Given the description of an element on the screen output the (x, y) to click on. 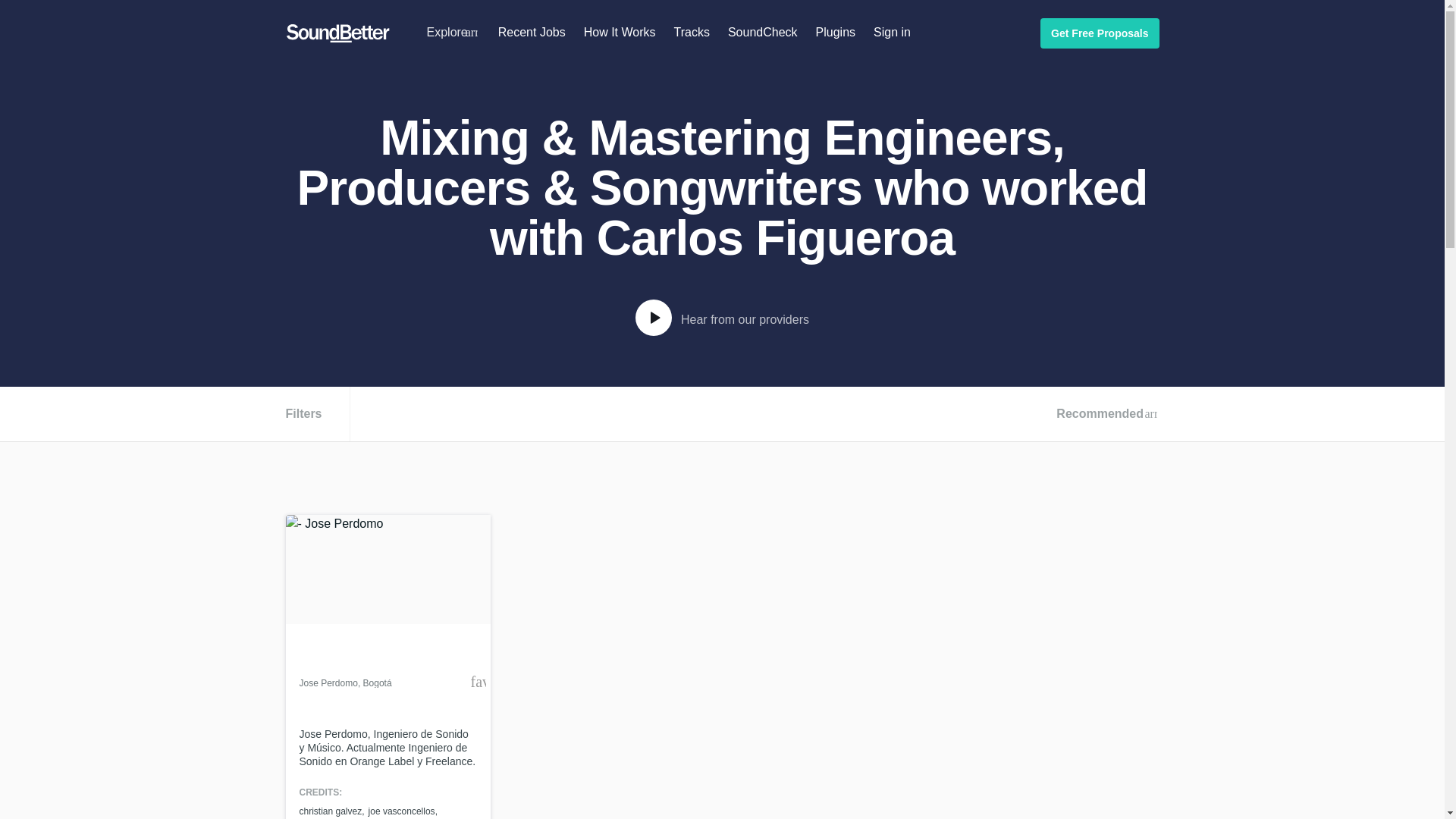
SoundBetter (325, 33)
